Given the description of an element on the screen output the (x, y) to click on. 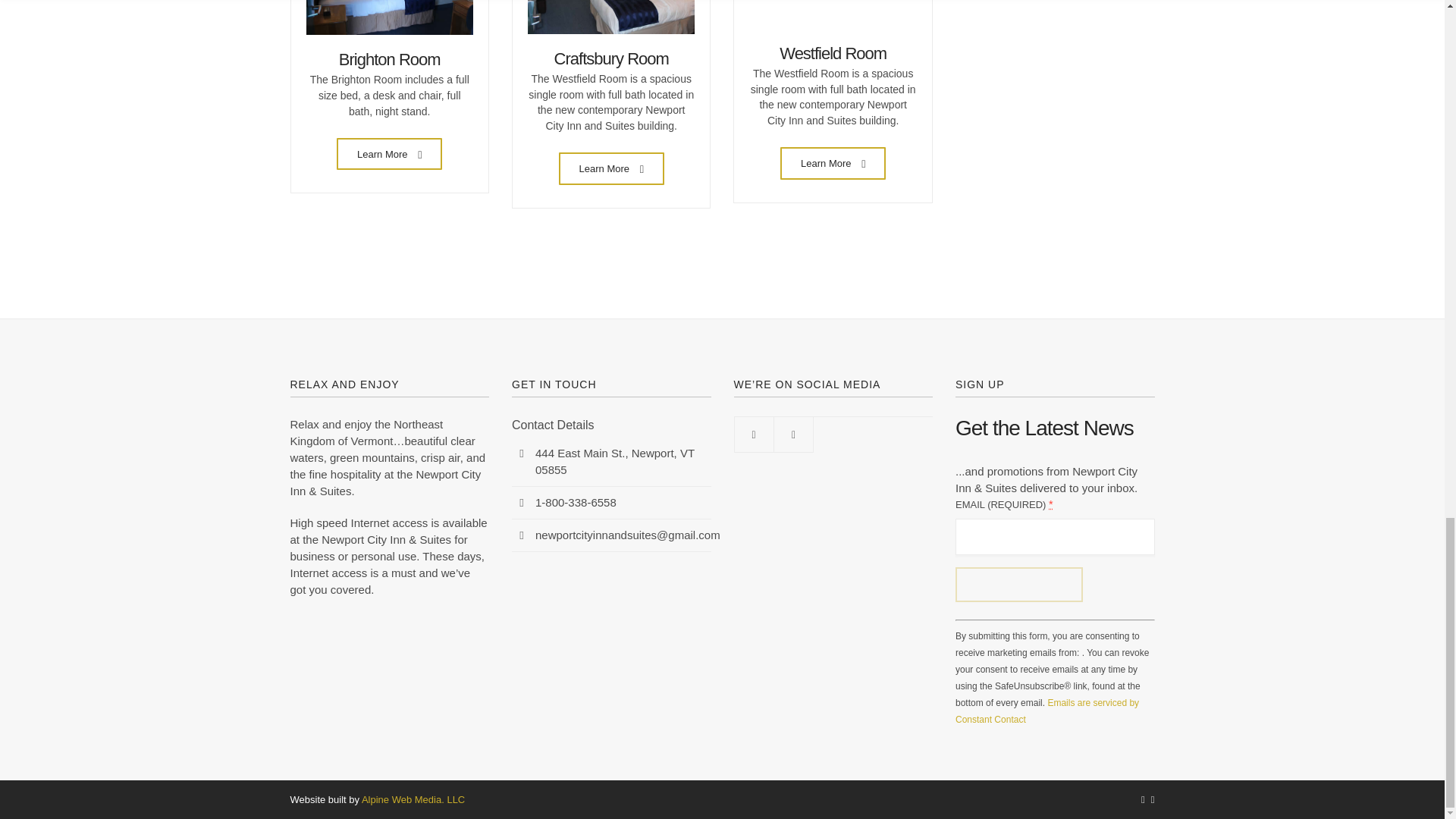
Sign Up Here (1019, 584)
Learn More (832, 163)
Learn More (611, 168)
Alpine Web Media. LLC (412, 799)
Westfield Room (832, 53)
Craftsbury Room (611, 58)
Learn More (389, 153)
Brighton Room (390, 58)
Sign Up Here (1019, 584)
Emails are serviced by Constant Contact (1046, 710)
